Given the description of an element on the screen output the (x, y) to click on. 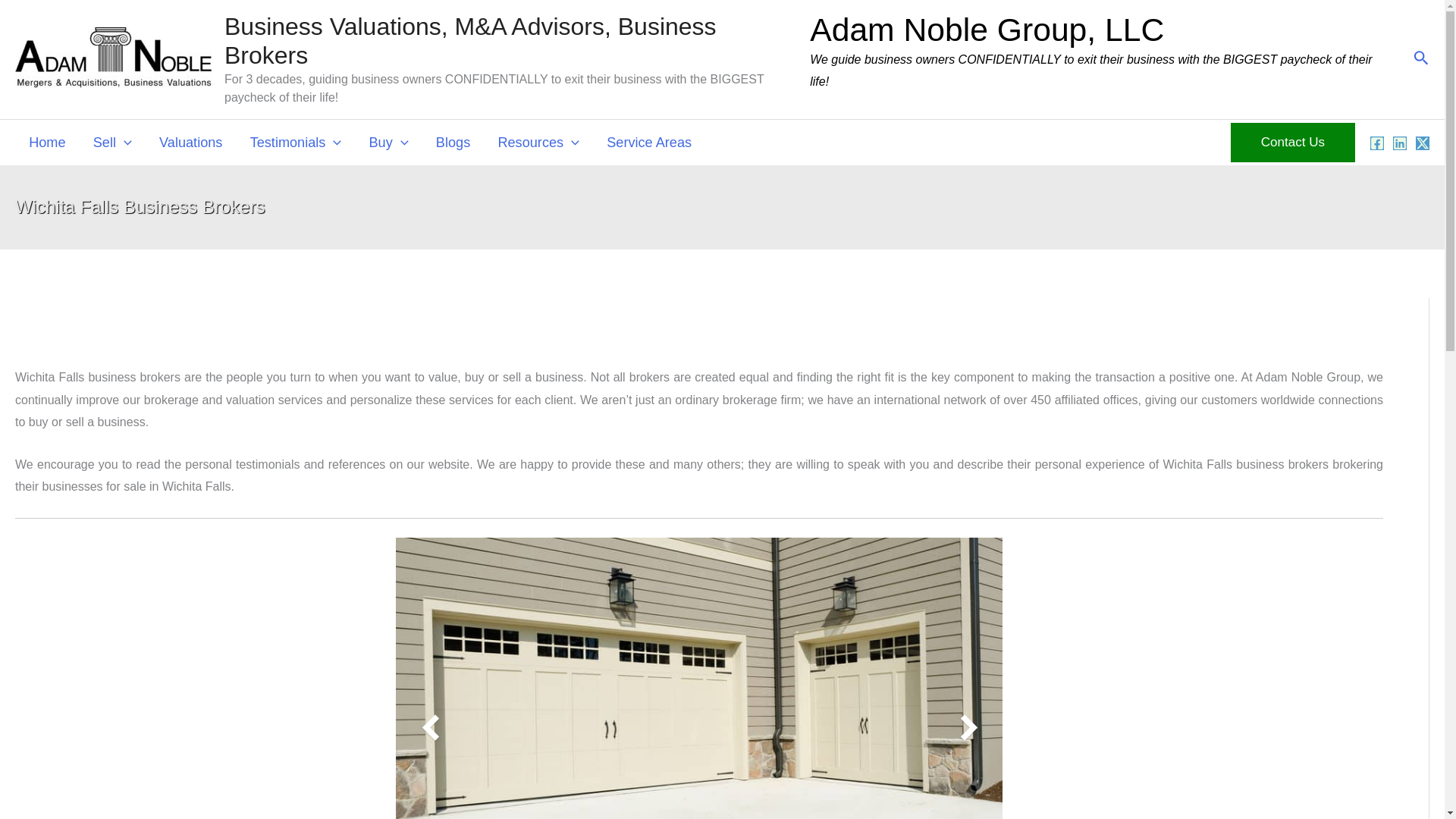
Service Areas (648, 142)
Buy (388, 142)
Sell (112, 142)
Valuations (190, 142)
Testimonials (295, 142)
Resources (537, 142)
Blogs (453, 142)
Contact Us (1292, 142)
Home (47, 142)
